Given the description of an element on the screen output the (x, y) to click on. 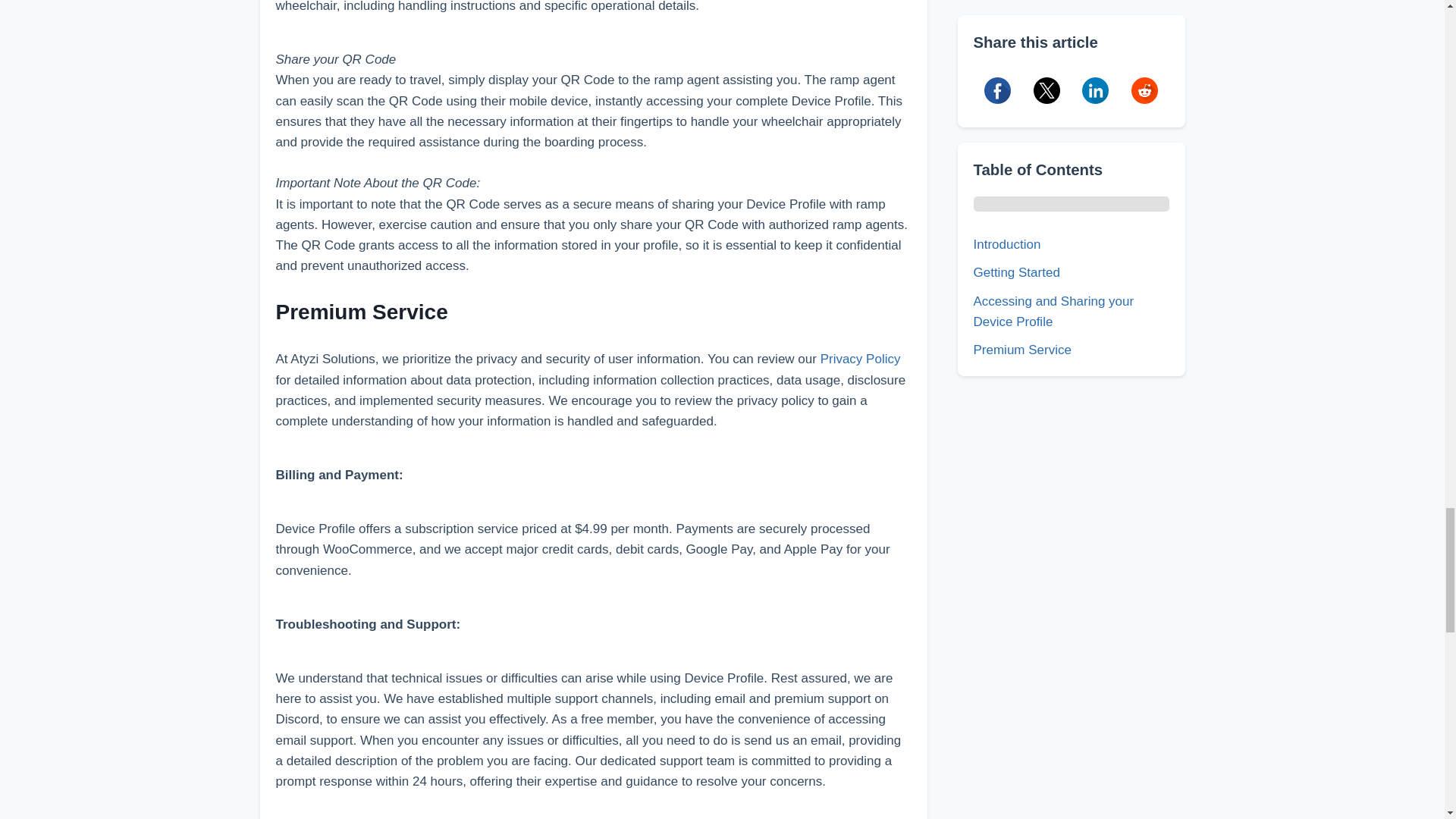
Privacy Policy (861, 359)
